Given the description of an element on the screen output the (x, y) to click on. 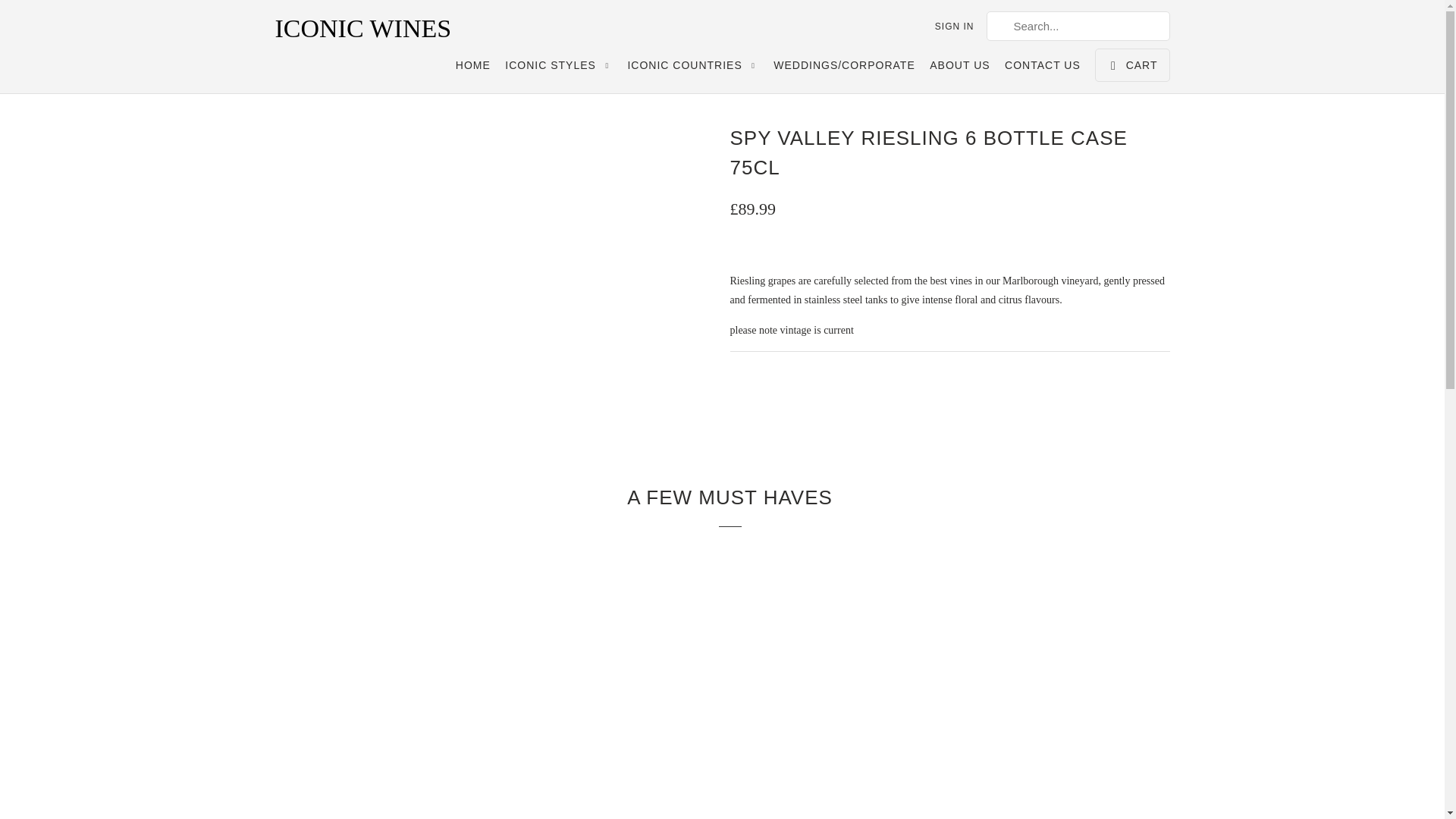
CONTACT US (1042, 68)
ICONIC WINES (380, 28)
ICONIC STYLES (558, 68)
SIGN IN (954, 26)
Cart (1131, 64)
Iconic Wines (380, 28)
ABOUT US (960, 68)
CART (1131, 64)
ICONIC COUNTRIES (692, 68)
HOME (472, 68)
